Given the description of an element on the screen output the (x, y) to click on. 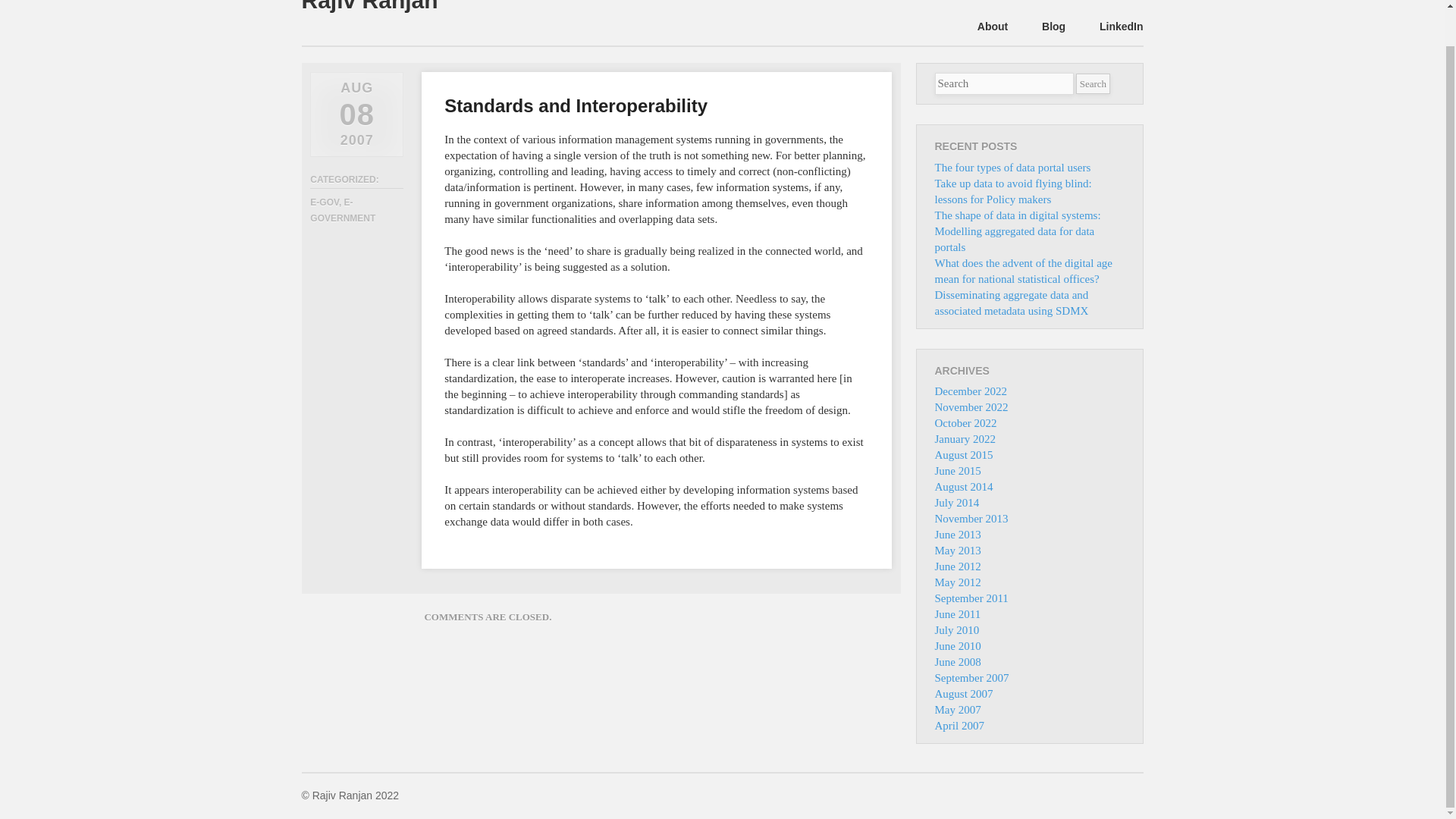
May 2013 (956, 550)
May 2012 (956, 582)
E-GOV (324, 202)
August 2014 (963, 486)
The four types of data portal users (1012, 167)
December 2022 (970, 390)
Search (1092, 83)
April 2007 (959, 725)
July 2014 (956, 502)
June 2010 (956, 645)
E-GOVERNMENT (342, 210)
September 2011 (970, 598)
